Given the description of an element on the screen output the (x, y) to click on. 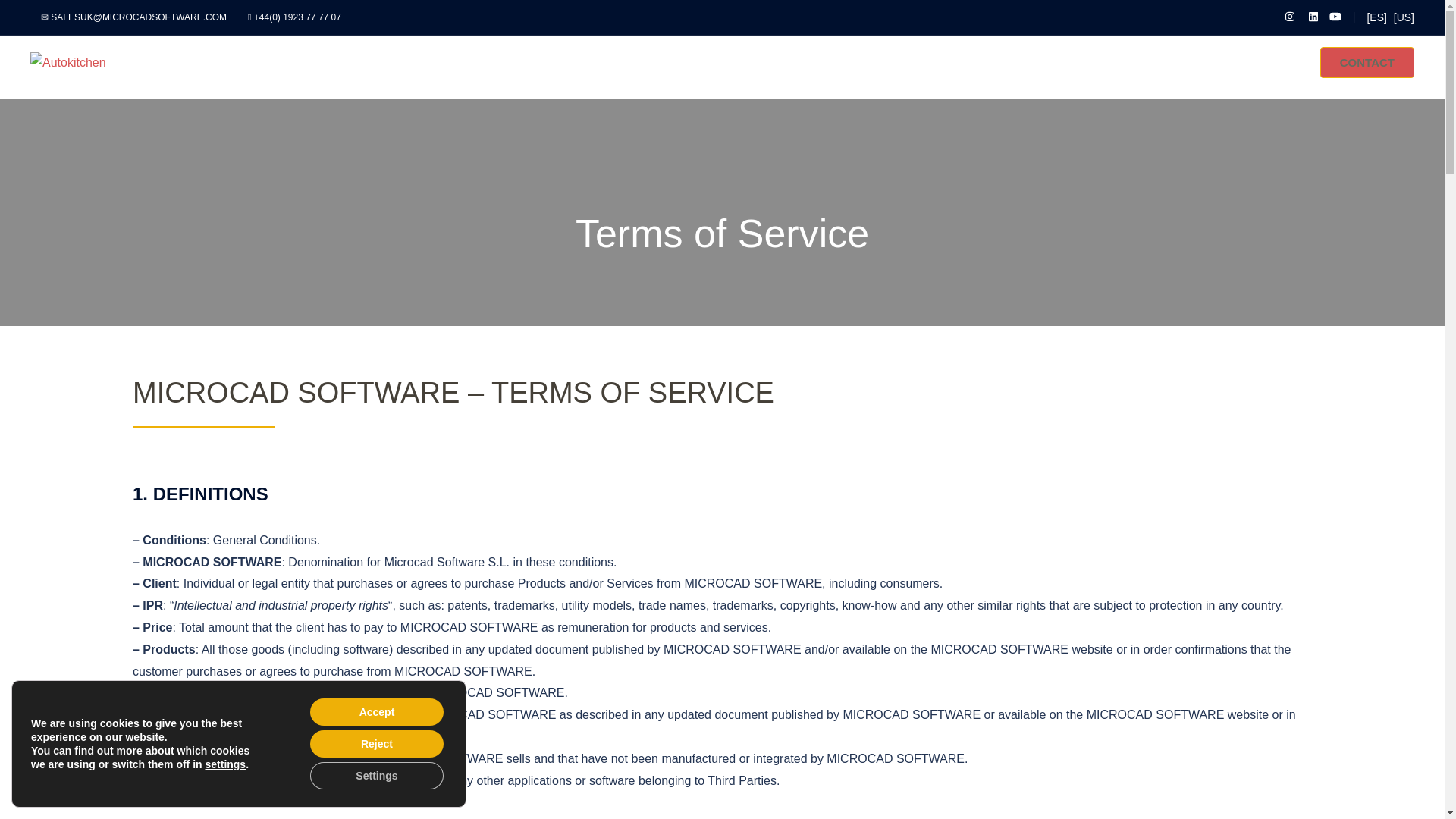
Home (965, 62)
Gallery (1108, 62)
User Area (1246, 62)
Autokitchen (68, 61)
About Us (1165, 62)
CONTACT (1366, 61)
Autokitchen (1026, 62)
